Given the description of an element on the screen output the (x, y) to click on. 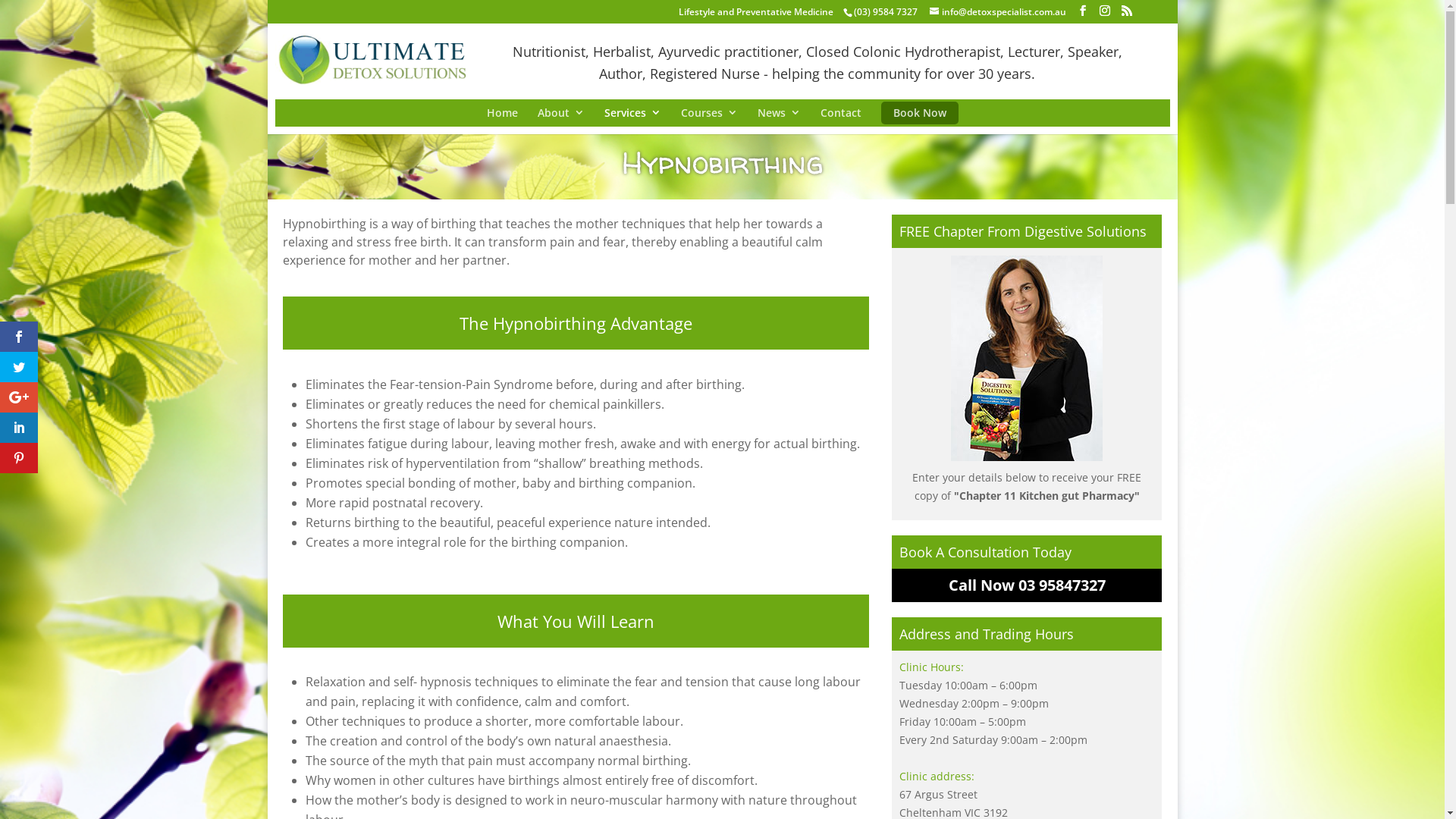
Book Now Element type: text (919, 112)
Home Element type: text (501, 112)
Contact Element type: text (840, 112)
Services Element type: text (631, 112)
News Element type: text (778, 112)
Courses Element type: text (708, 112)
info@detoxspecialist.com.au Element type: text (997, 11)
About Element type: text (559, 112)
